Given the description of an element on the screen output the (x, y) to click on. 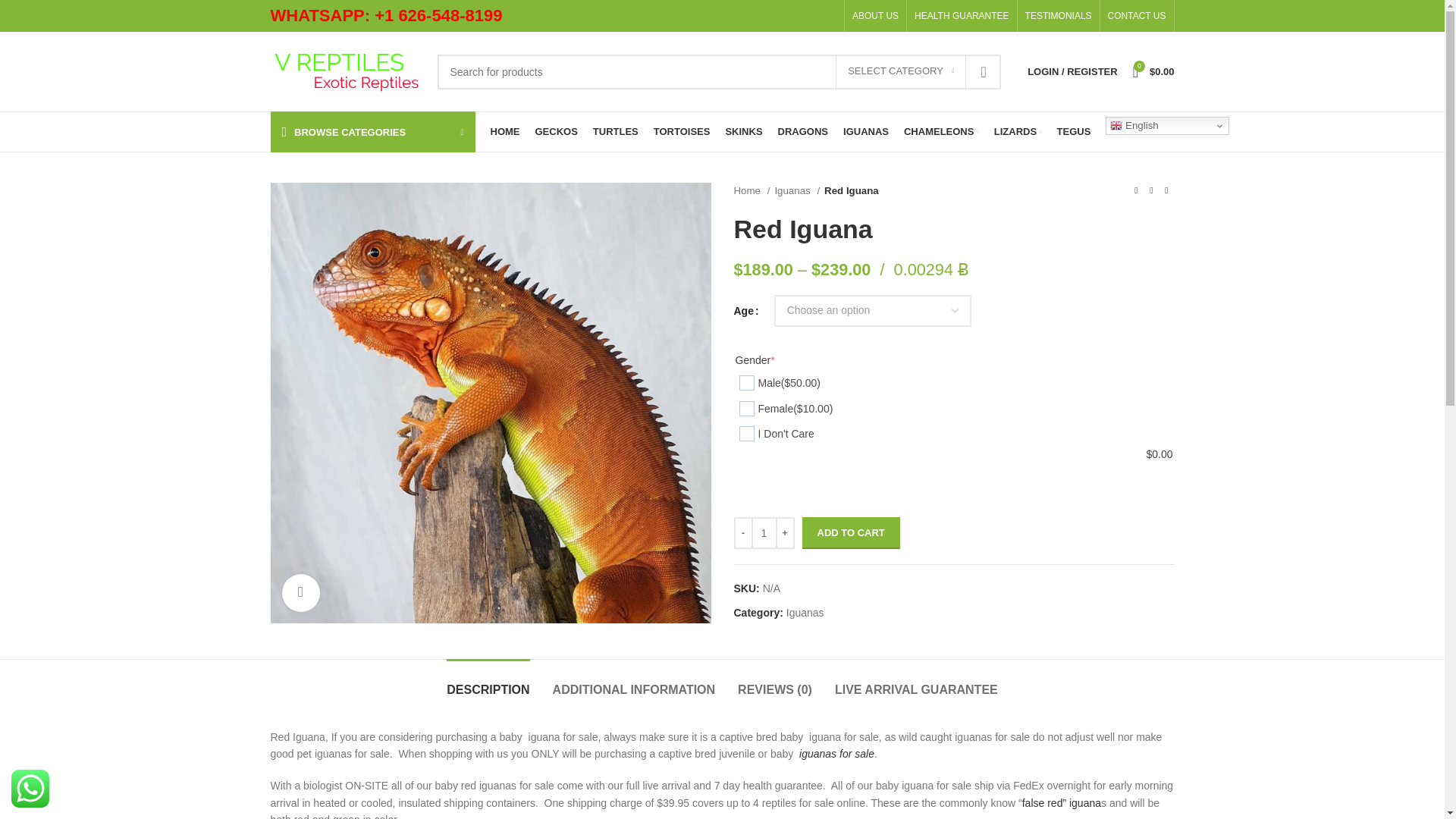
SELECT CATEGORY (900, 71)
ABOUT US (874, 15)
My account (1072, 71)
TESTIMONIALS (1058, 15)
HEALTH GUARANTEE (961, 15)
Search for products (718, 71)
Shopping cart (1153, 71)
SEARCH (983, 71)
CONTACT US (1137, 15)
SELECT CATEGORY (900, 71)
